Given the description of an element on the screen output the (x, y) to click on. 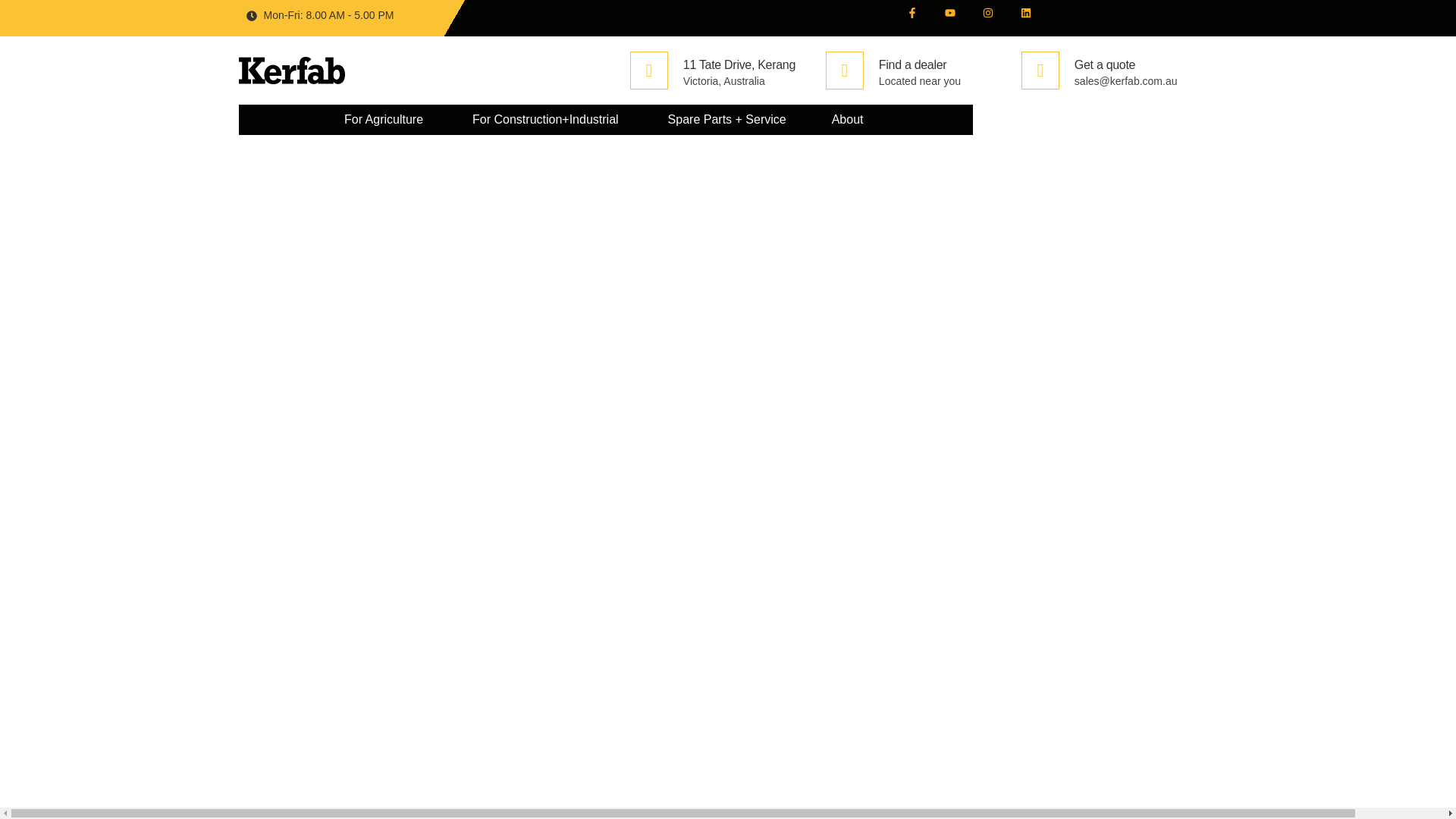
Get a quote (1104, 64)
For Agriculture (383, 119)
